Given the description of an element on the screen output the (x, y) to click on. 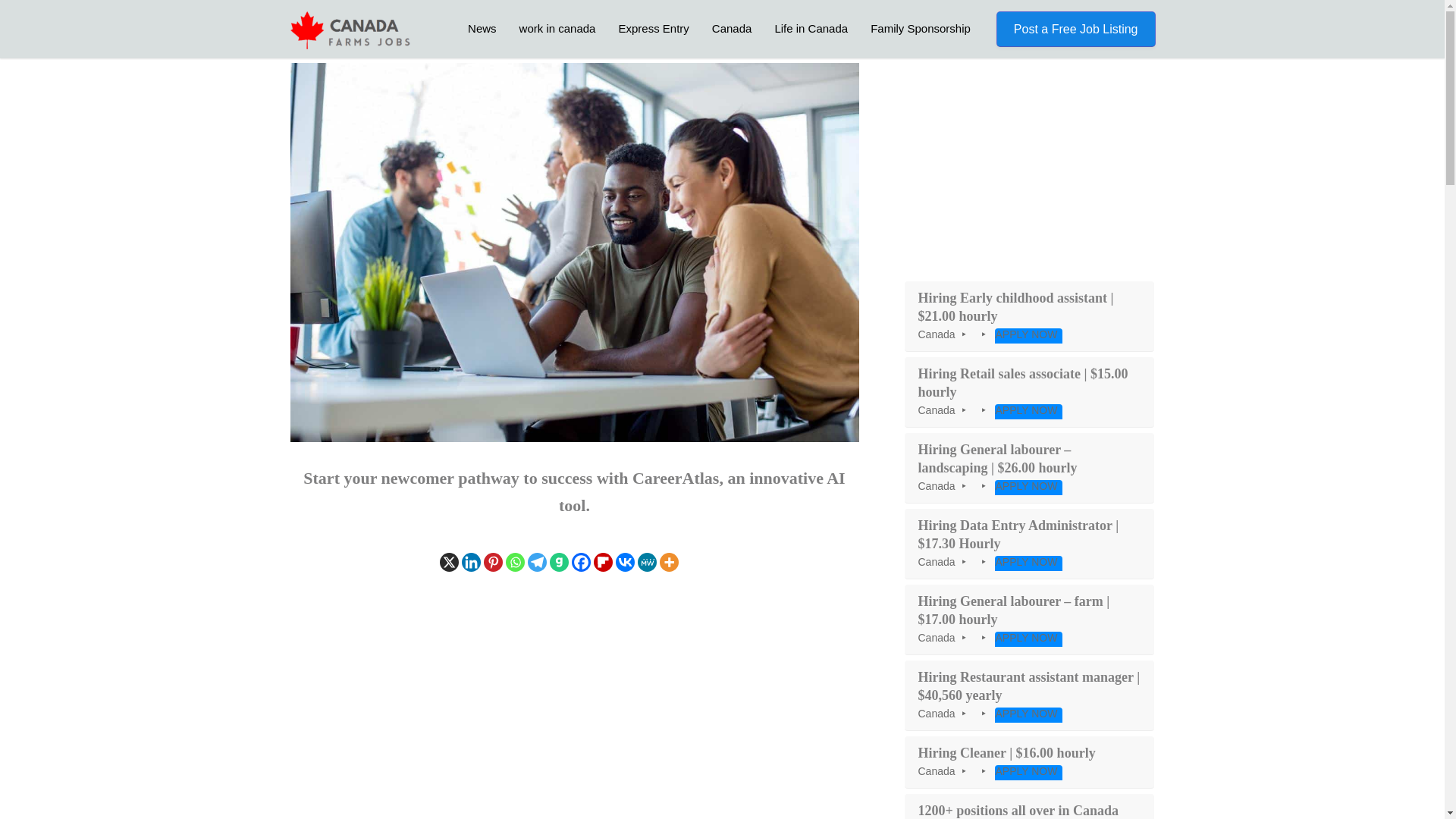
Life in Canada (810, 28)
Express Entry (653, 28)
News (482, 28)
Whatsapp (514, 561)
Canada (731, 28)
Linkedin (470, 561)
work in canada (557, 28)
News (482, 28)
Vkontakte (624, 561)
X (448, 561)
Gab (559, 561)
Family Sponsorship (920, 28)
Post a Free Job Listing (1075, 28)
work in canada (557, 28)
Telegram (537, 561)
